Given the description of an element on the screen output the (x, y) to click on. 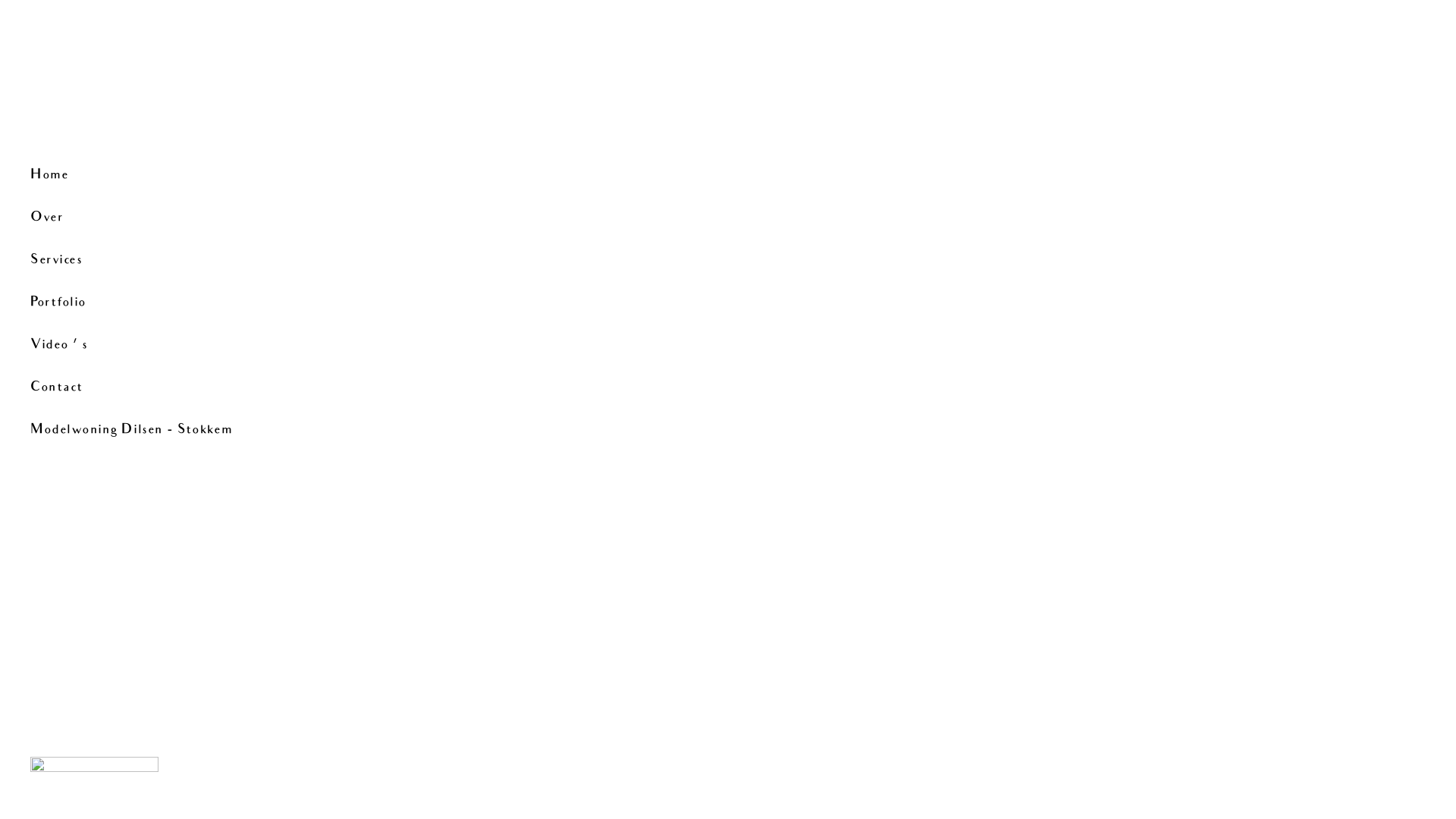
Modelwoning Dilsen - Stokkem Element type: text (147, 430)
Services Element type: text (147, 260)
Home Element type: text (147, 175)
Contact Element type: text (147, 388)
Video ' s Element type: text (147, 345)
Over Element type: text (147, 218)
Portfolio Element type: text (147, 303)
